Given the description of an element on the screen output the (x, y) to click on. 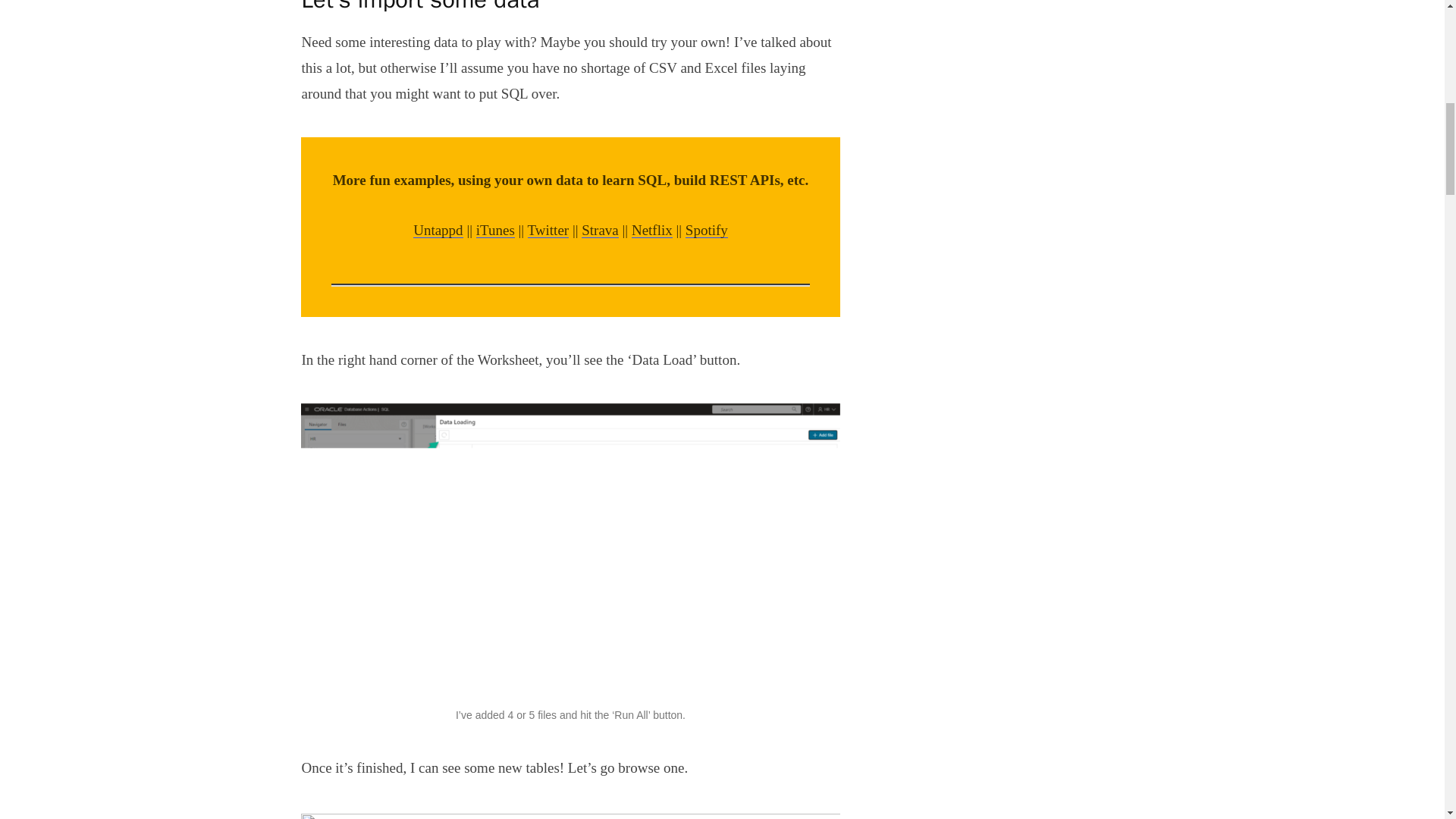
Untappd (438, 229)
Netflix (651, 229)
Spotify (706, 229)
Twitter (548, 229)
Strava (599, 229)
iTunes (495, 229)
